Given the description of an element on the screen output the (x, y) to click on. 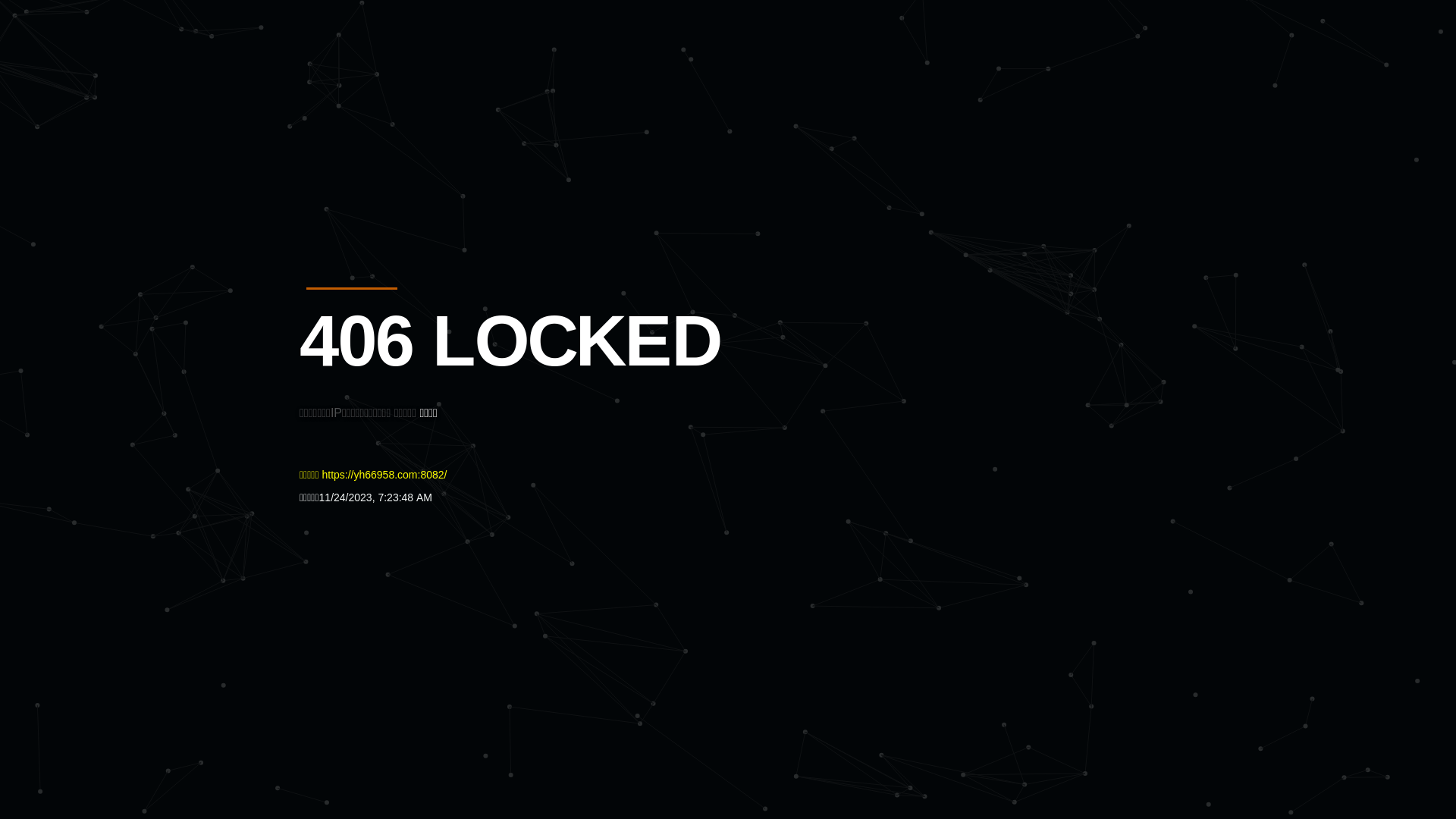
Quatro Element type: text (410, 86)
